Given the description of an element on the screen output the (x, y) to click on. 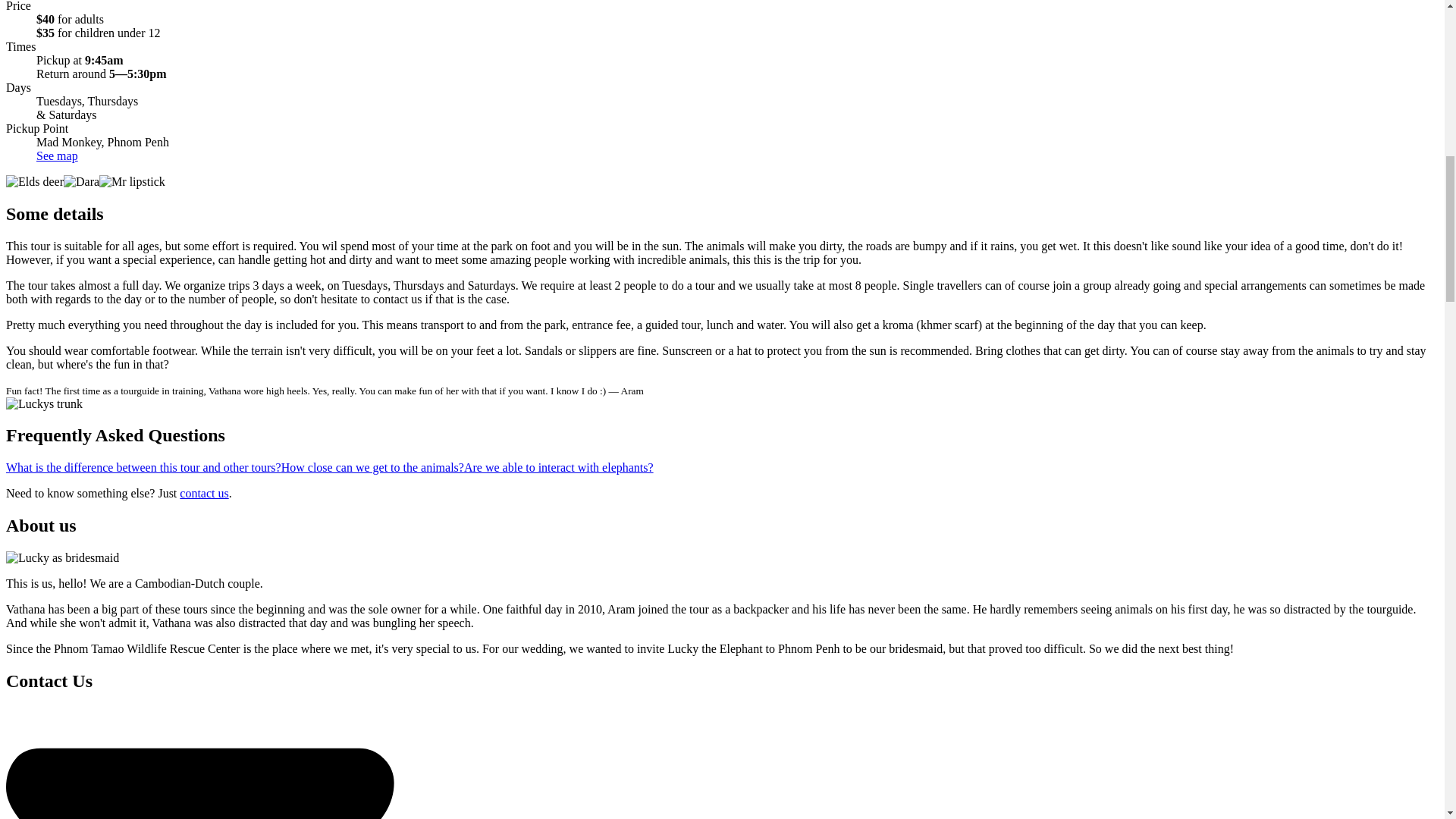
Are we able to interact with elephants? (558, 467)
See map (57, 155)
contact us (203, 492)
What is the difference between this tour and other tours? (143, 467)
How close can we get to the animals? (372, 467)
